Given the description of an element on the screen output the (x, y) to click on. 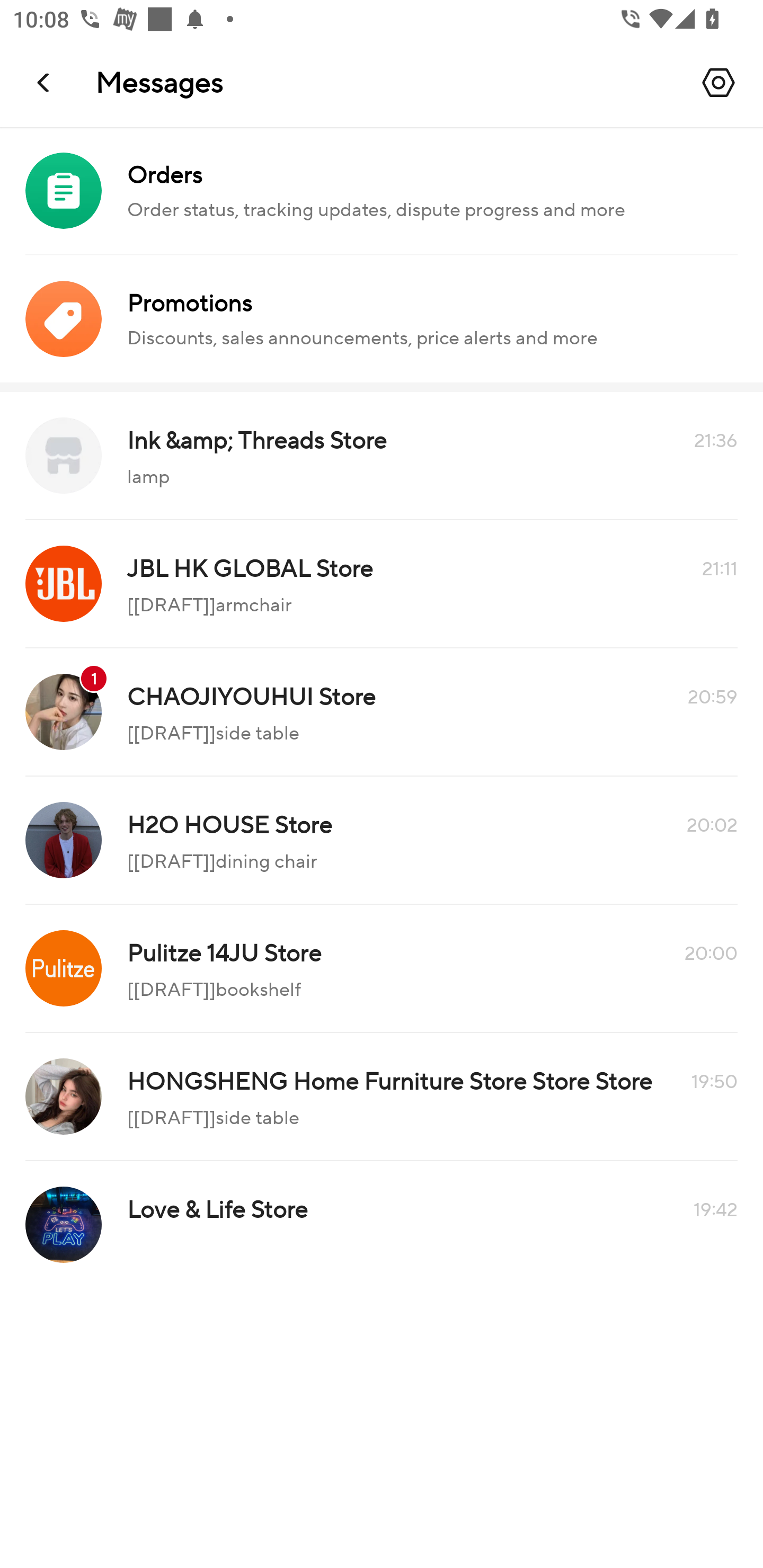
Navigate up (44, 82)
